Given the description of an element on the screen output the (x, y) to click on. 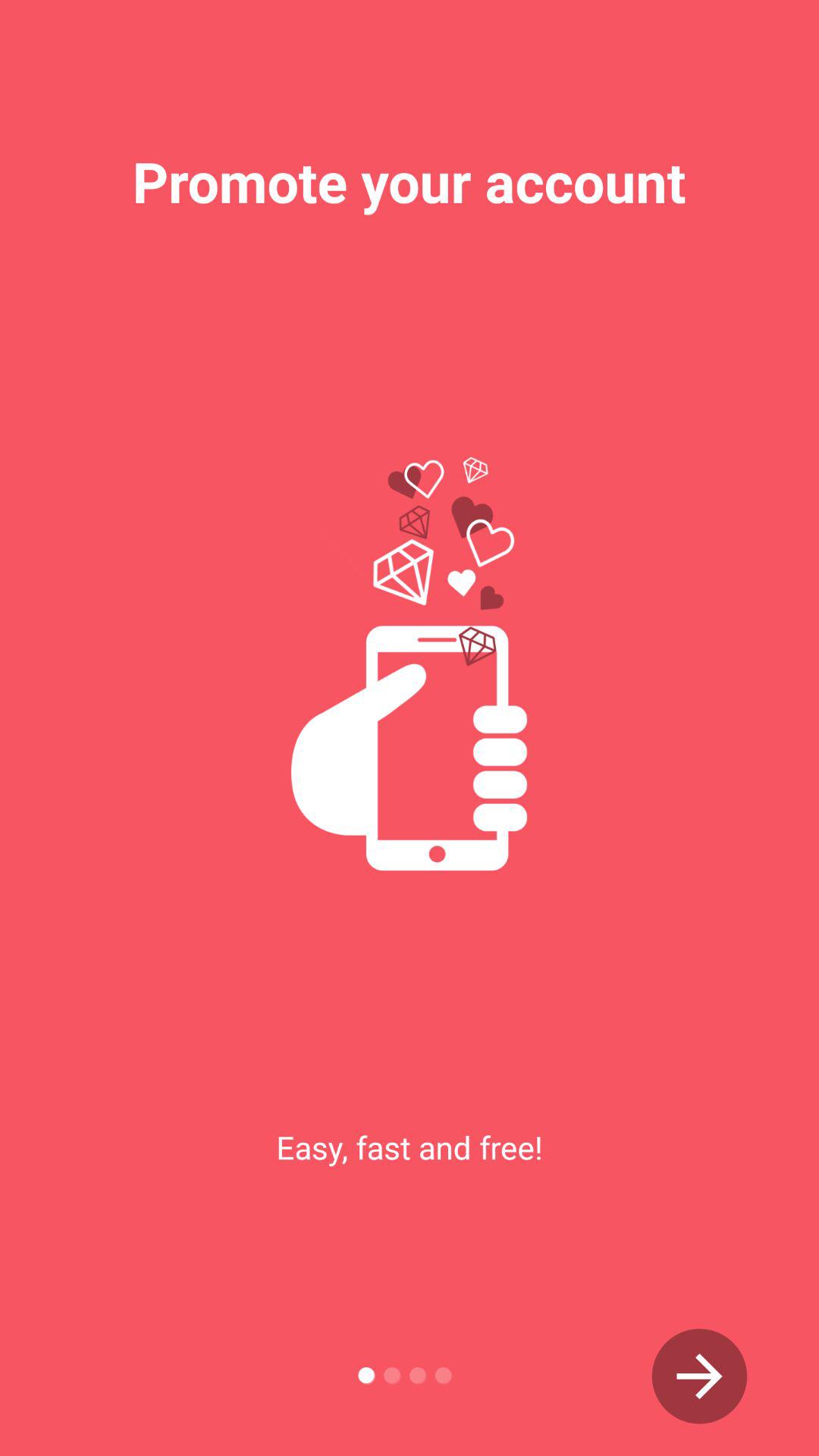
go next arrow (699, 1376)
